Given the description of an element on the screen output the (x, y) to click on. 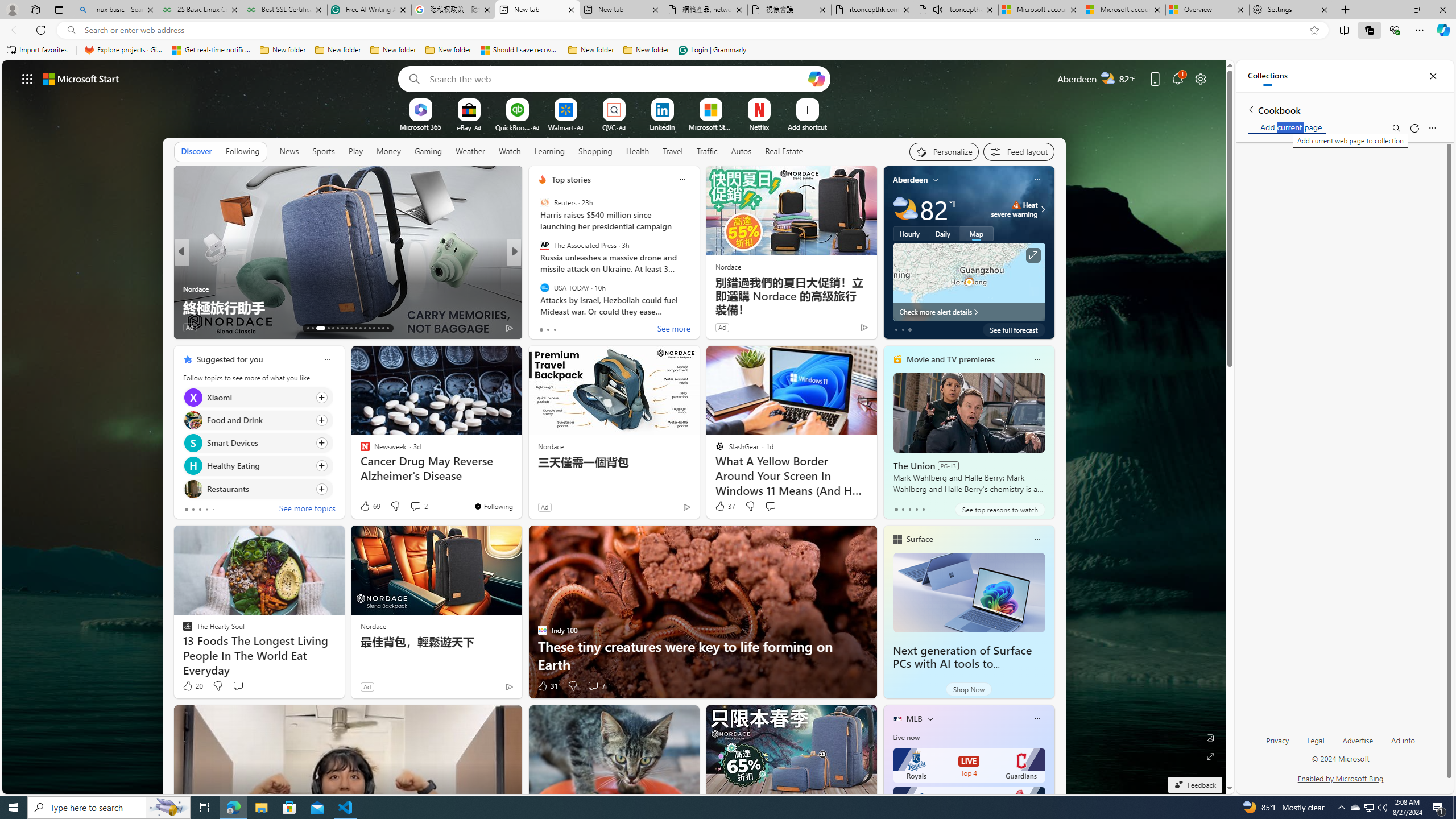
itconcepthk.com/projector_solutions.mp4 (873, 9)
View comments 70 Comment (592, 327)
View comments 7 Comment (592, 685)
Login | Grammarly (712, 49)
AutomationID: tab-14 (312, 328)
AutomationID: tab-18 (337, 328)
View comments 72 Comment (597, 327)
